Given the description of an element on the screen output the (x, y) to click on. 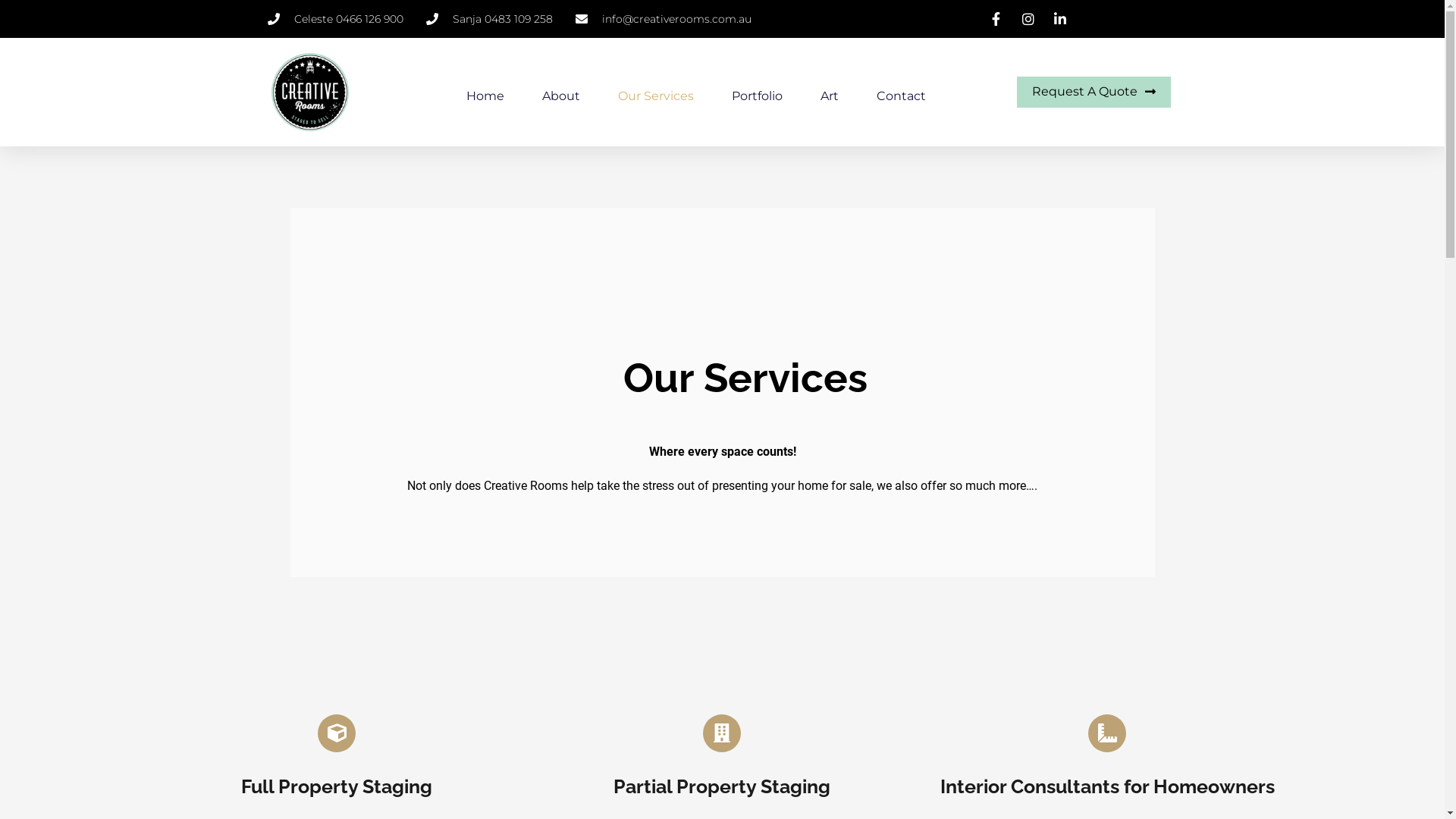
Home Element type: text (485, 95)
Celeste 0466 126 900 Element type: text (334, 18)
Contact Element type: text (900, 95)
info@creativerooms.com.au Element type: text (662, 18)
Art Element type: text (829, 95)
Request A Quote Element type: text (1093, 91)
Portfolio Element type: text (756, 95)
Our Services Element type: text (655, 95)
Sanja 0483 109 258 Element type: text (489, 18)
About Element type: text (561, 95)
